Given the description of an element on the screen output the (x, y) to click on. 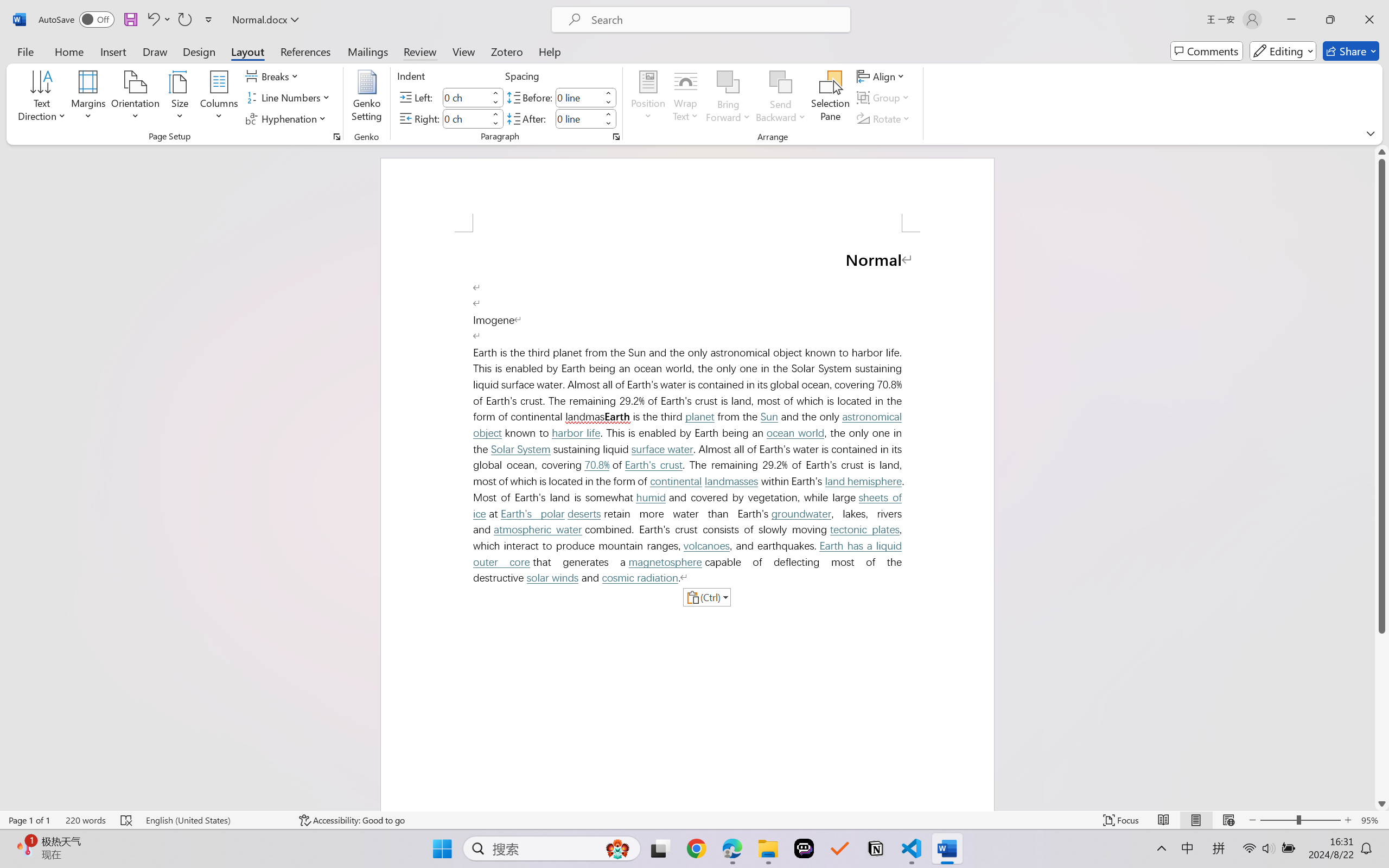
Bring Forward (728, 81)
solar winds (551, 578)
Genko Setting... (367, 97)
Rotate (884, 118)
Align (881, 75)
Group (884, 97)
Zoom 95% (1372, 819)
Undo Paste Destination Formatting (152, 19)
